Given the description of an element on the screen output the (x, y) to click on. 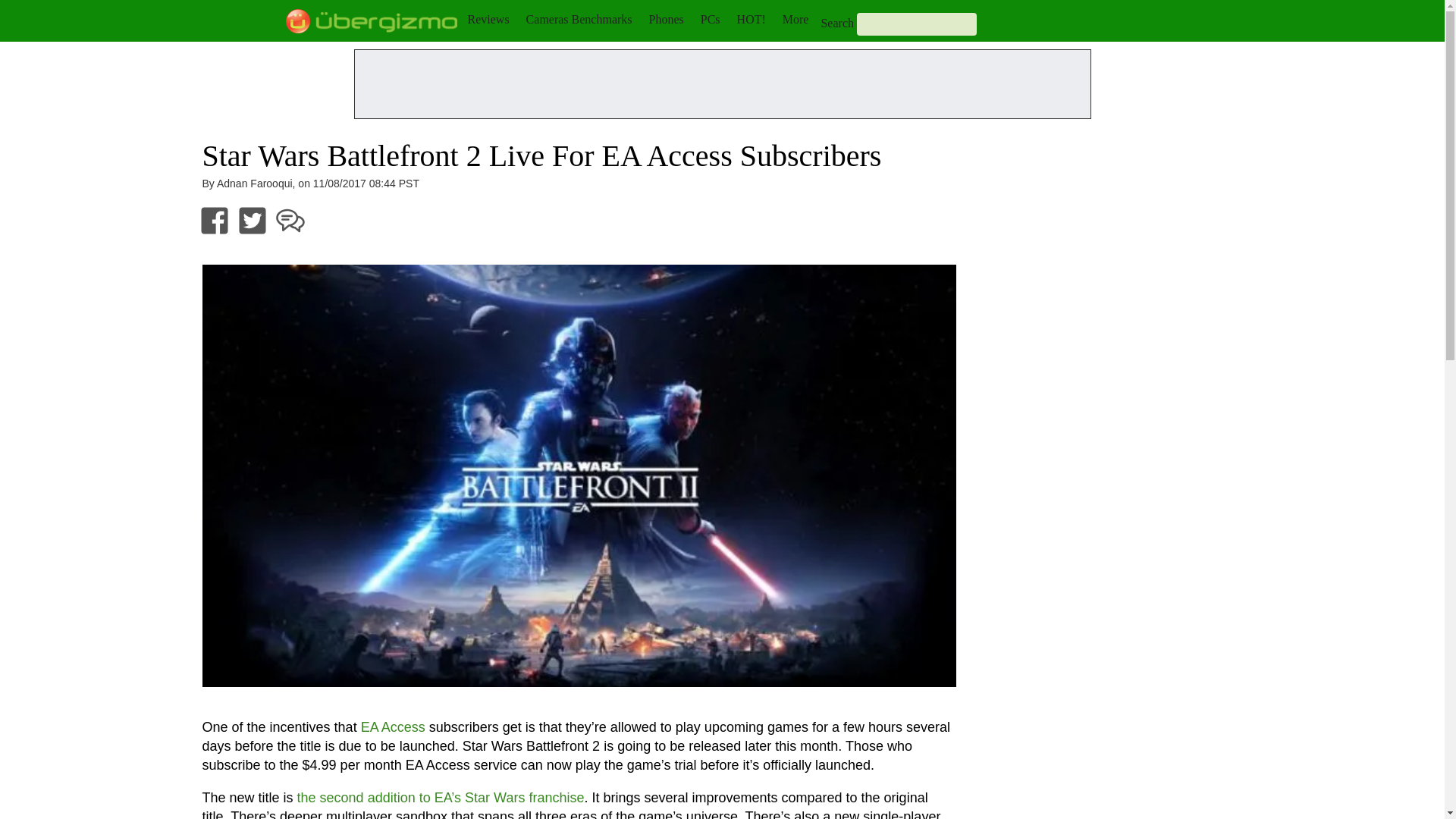
Phones (666, 19)
Reviews (487, 19)
PCs (710, 19)
Cameras Benchmarks (578, 19)
